Given the description of an element on the screen output the (x, y) to click on. 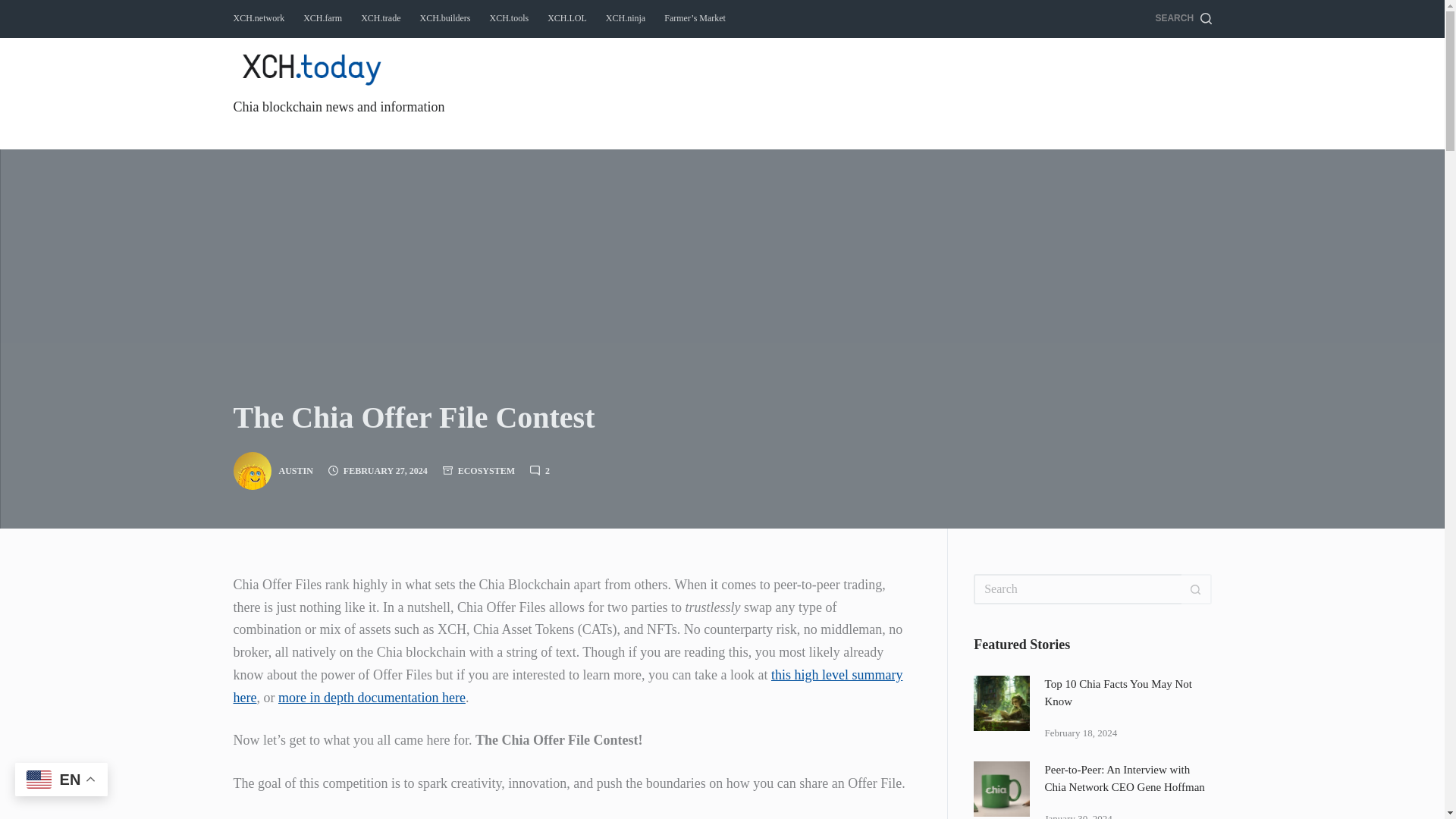
SEARCH (1182, 18)
XCH.ninja (624, 18)
AUSTIN (296, 470)
ECOSYSTEM (486, 470)
Posts by Austin (296, 470)
XCH.farm (323, 18)
XCH.LOL (567, 18)
The Chia Offer File Contest (721, 417)
Search for... (1077, 589)
more in depth documentation here (371, 697)
